Given the description of an element on the screen output the (x, y) to click on. 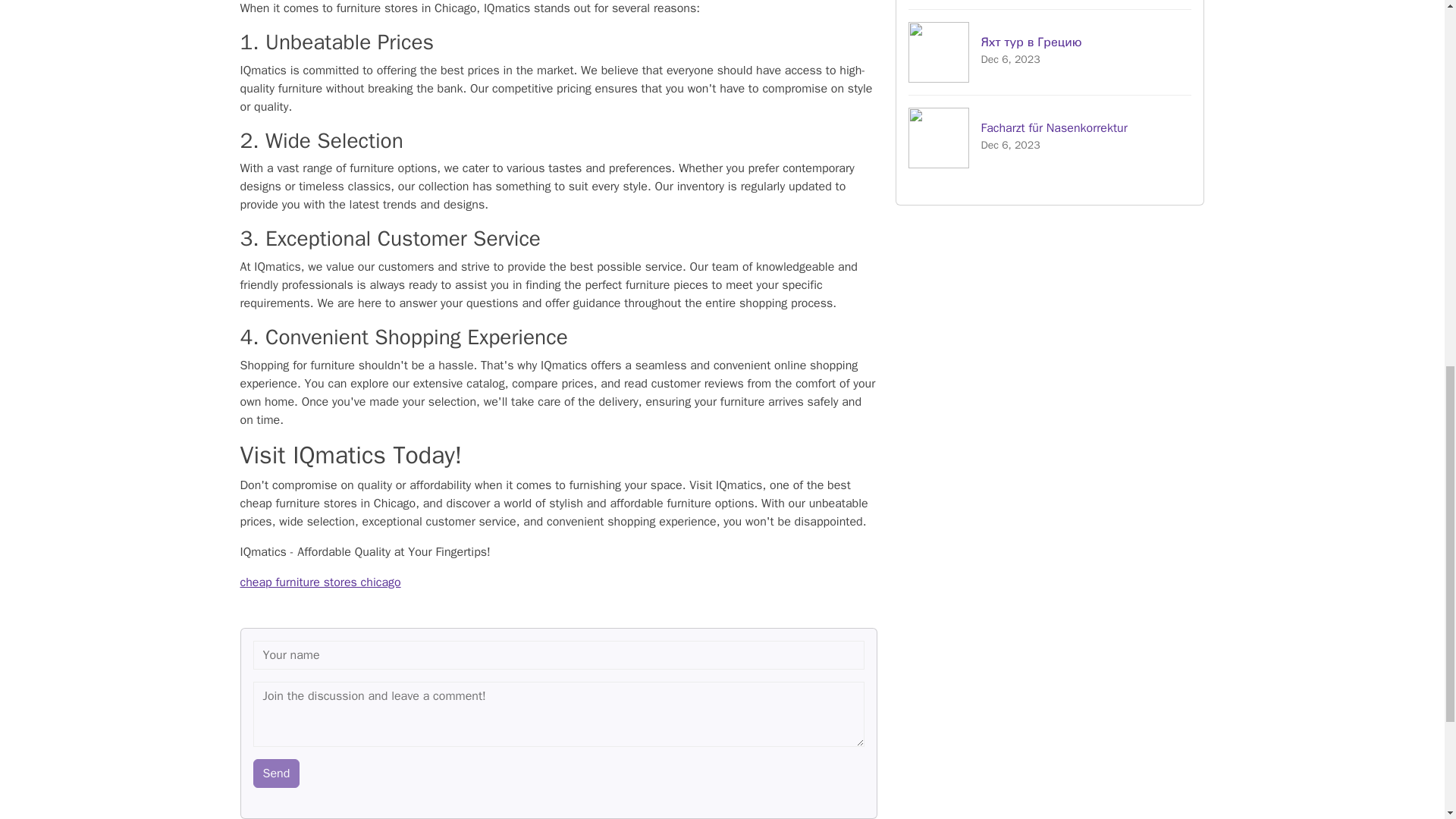
Send (276, 773)
Send (276, 773)
cheap furniture stores chicago (320, 581)
